Given the description of an element on the screen output the (x, y) to click on. 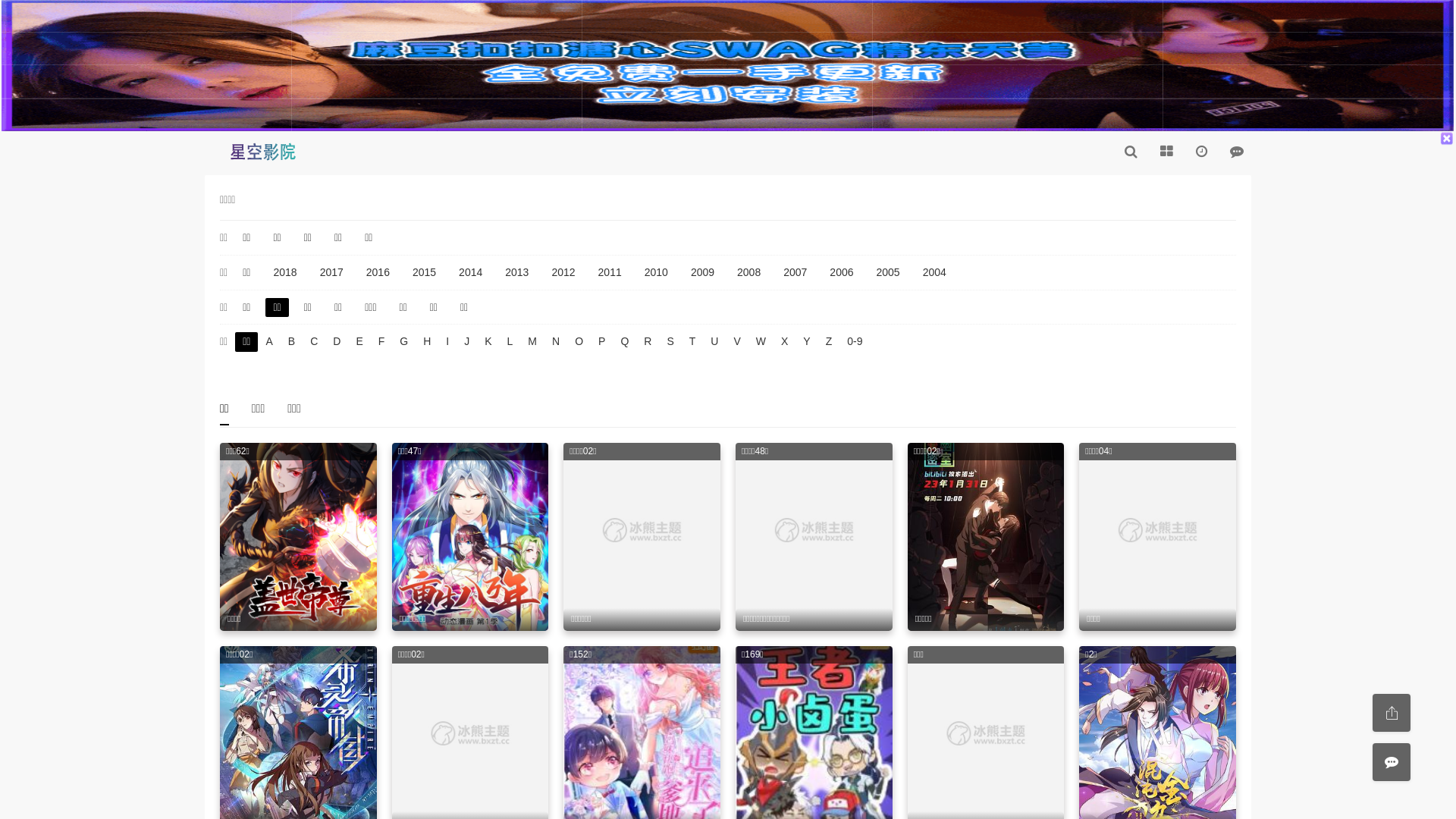
Z Element type: text (829, 341)
N Element type: text (555, 341)
2007 Element type: text (794, 272)
2011 Element type: text (609, 272)
Q Element type: text (624, 341)
2018 Element type: text (284, 272)
W Element type: text (760, 341)
D Element type: text (336, 341)
R Element type: text (647, 341)
K Element type: text (487, 341)
E Element type: text (359, 341)
G Element type: text (403, 341)
A Element type: text (268, 341)
2014 Element type: text (470, 272)
2015 Element type: text (423, 272)
C Element type: text (313, 341)
J Element type: text (466, 341)
P Element type: text (601, 341)
O Element type: text (578, 341)
2016 Element type: text (377, 272)
B Element type: text (291, 341)
S Element type: text (669, 341)
2010 Element type: text (656, 272)
2005 Element type: text (888, 272)
I Element type: text (447, 341)
M Element type: text (532, 341)
2008 Element type: text (748, 272)
Y Element type: text (806, 341)
2006 Element type: text (841, 272)
2004 Element type: text (934, 272)
L Element type: text (509, 341)
2017 Element type: text (331, 272)
2012 Element type: text (562, 272)
T Element type: text (692, 341)
V Element type: text (736, 341)
0-9 Element type: text (854, 341)
2013 Element type: text (516, 272)
2009 Element type: text (702, 272)
F Element type: text (381, 341)
H Element type: text (426, 341)
X Element type: text (784, 341)
U Element type: text (713, 341)
